Given the description of an element on the screen output the (x, y) to click on. 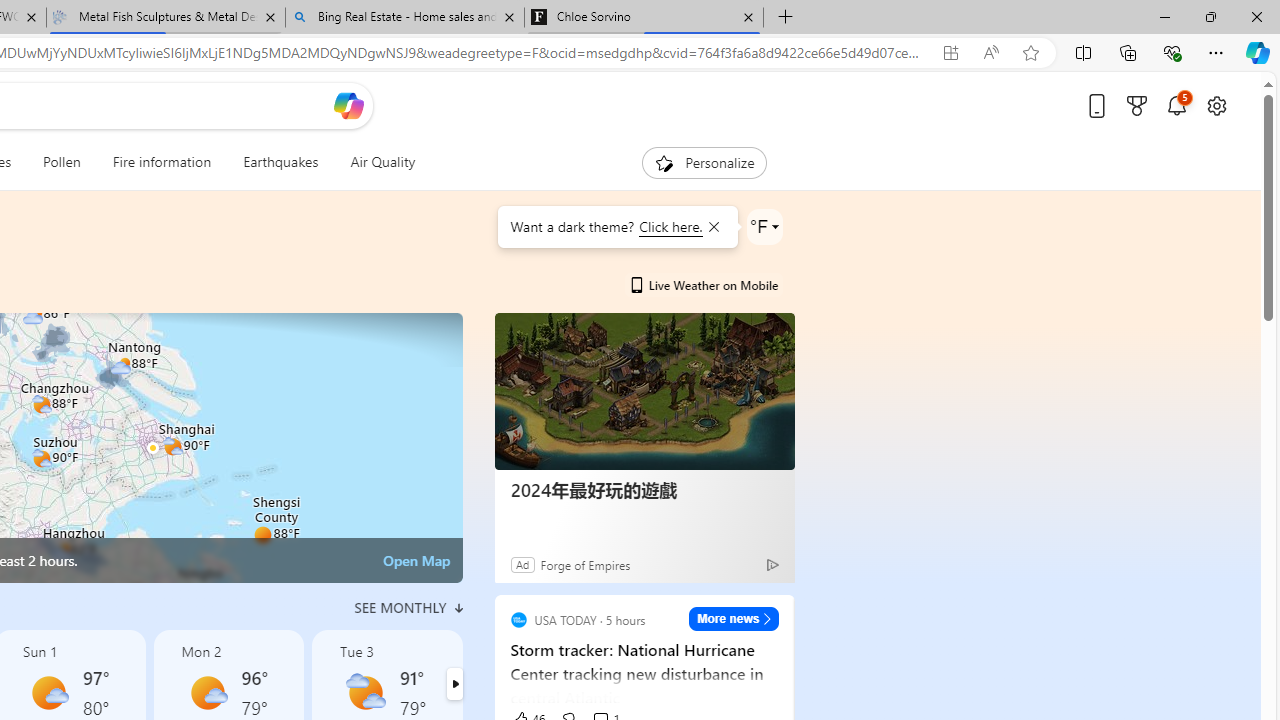
Open Map (416, 560)
Restore (1210, 16)
Close tab (747, 16)
Pollen (61, 162)
Personalize (703, 162)
Earthquakes (280, 162)
Weather settings (764, 226)
App available. Install Microsoft Start Weather (950, 53)
Pollen (61, 162)
Earthquakes (280, 162)
Partly sunny (365, 692)
Ad Choice (772, 564)
Read aloud this page (Ctrl+Shift+U) (991, 53)
